Given the description of an element on the screen output the (x, y) to click on. 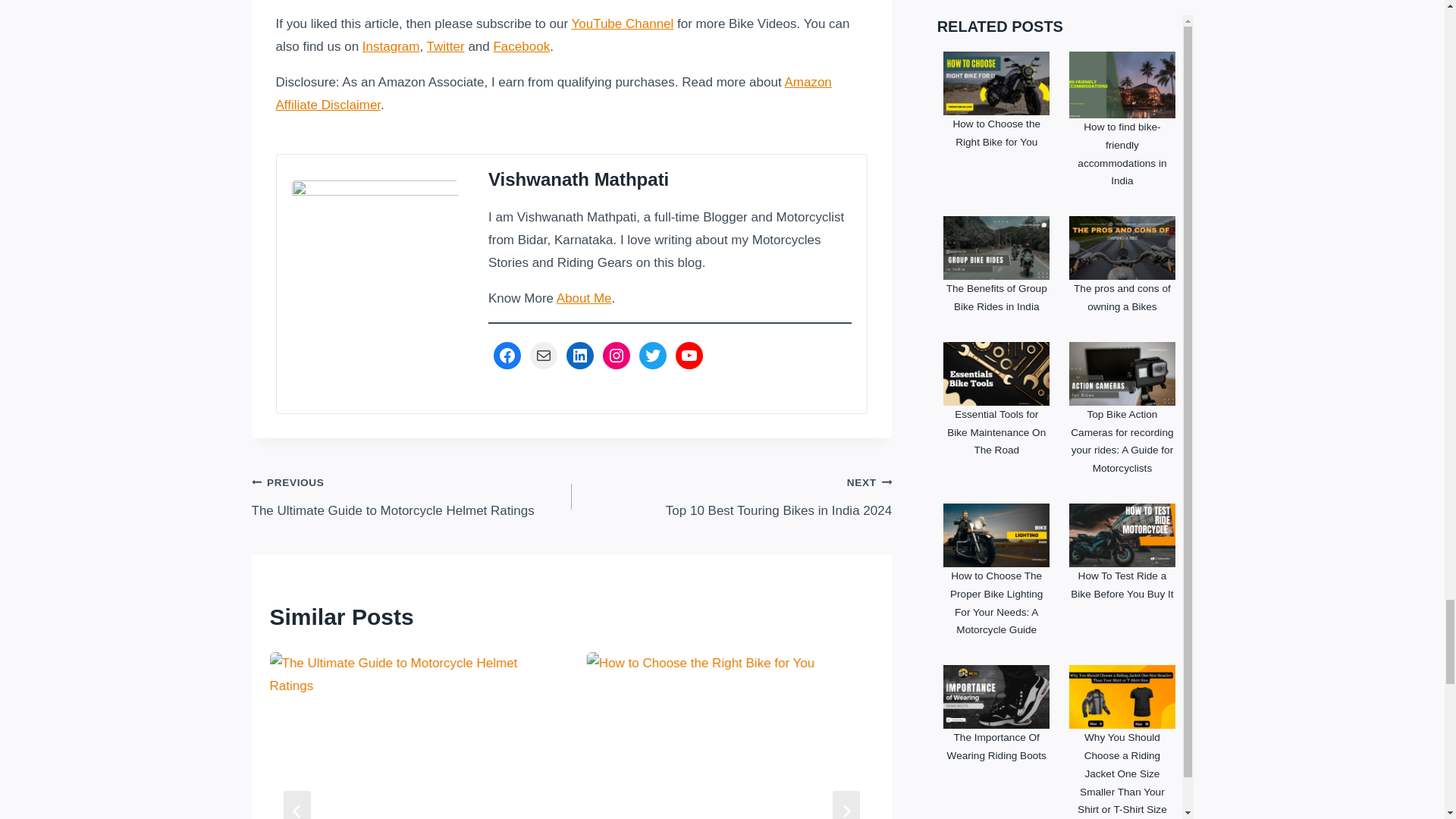
YouTube Channel (621, 23)
Instagram (391, 46)
Twitter (445, 46)
